Given the description of an element on the screen output the (x, y) to click on. 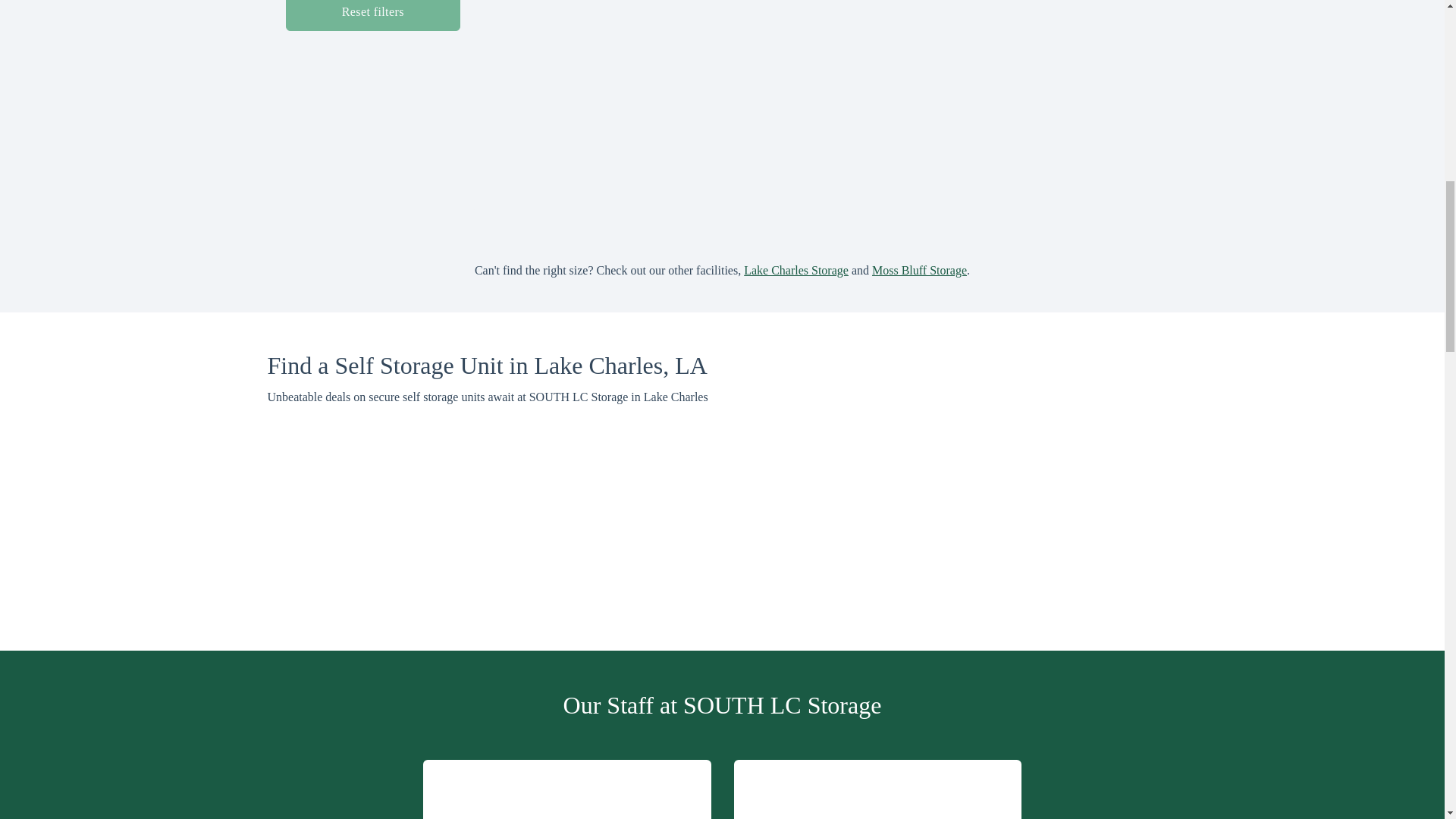
Reset filters (372, 15)
Moss Bluff Storage (919, 269)
Lake Charles Storage (796, 269)
